Given the description of an element on the screen output the (x, y) to click on. 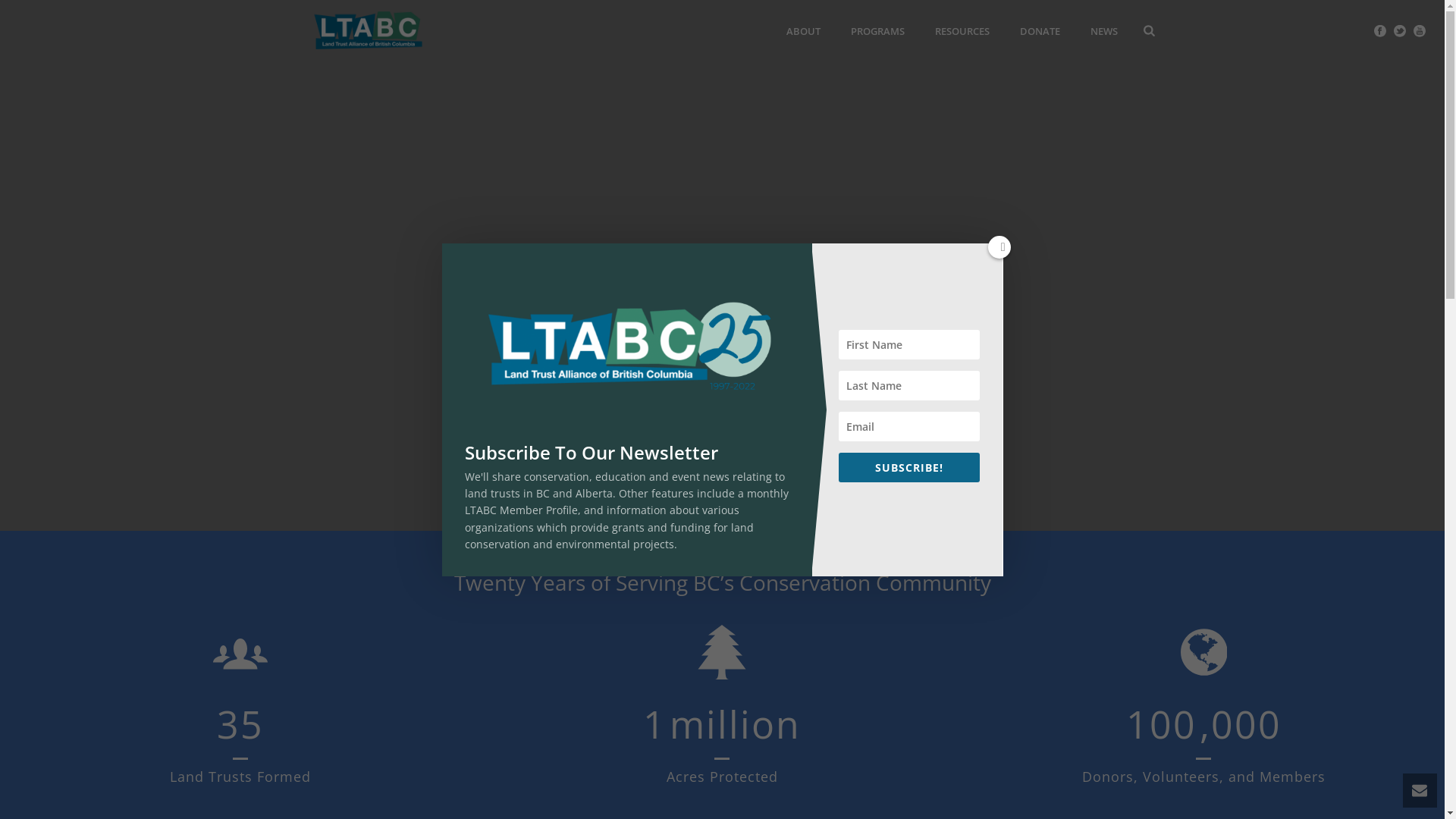
ABOUT Element type: text (803, 30)
DONATE Element type: text (1039, 30)
PROGRAMS Element type: text (877, 30)
NEWS Element type: text (1103, 30)
SUBSCRIBE! Element type: text (909, 466)
Conserving BC's Future Element type: hover (366, 30)
RESOURCES Element type: text (961, 30)
